Given the description of an element on the screen output the (x, y) to click on. 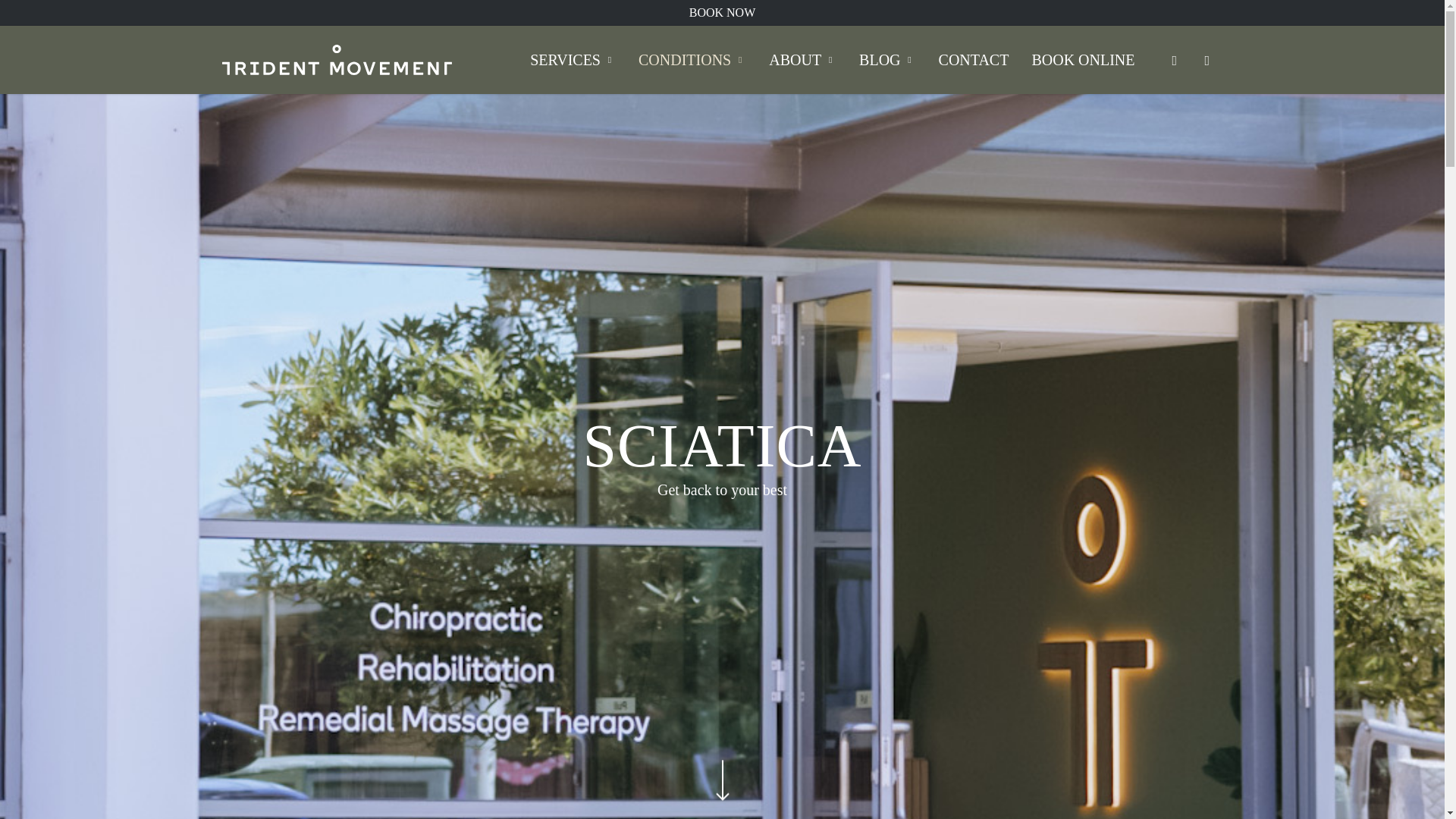
ABOUT (802, 59)
SERVICES (572, 59)
BLOG (886, 59)
BOOK NOW (721, 11)
CONDITIONS (692, 59)
CONTACT (973, 59)
